Given the description of an element on the screen output the (x, y) to click on. 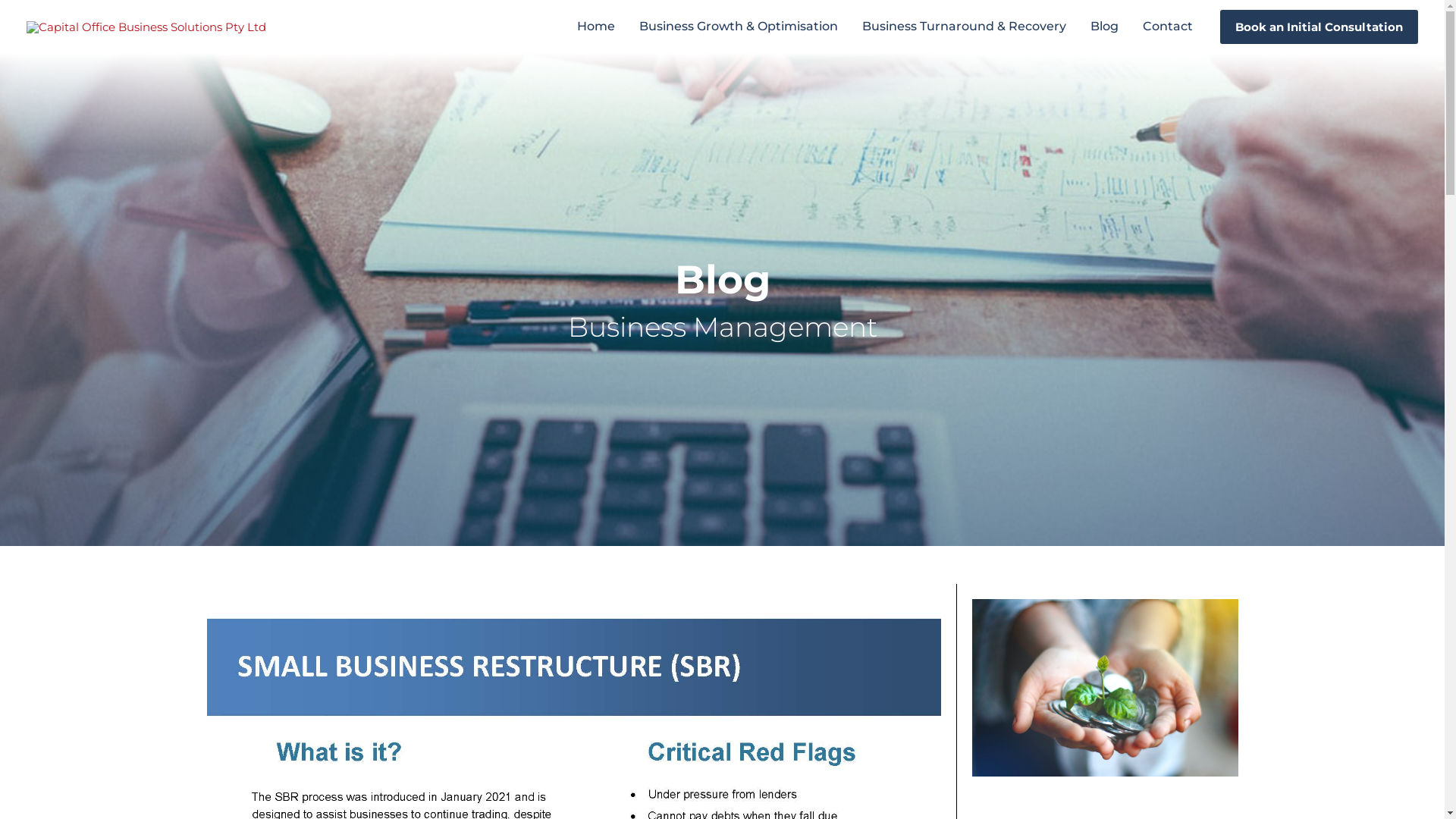
Book an Initial Consultation Element type: text (1319, 26)
Contact Element type: text (1167, 26)
Business Growth & Optimisation Element type: text (738, 26)
Business Turnaround & Recovery Element type: text (964, 26)
Home Element type: text (595, 26)
Blog Element type: text (1104, 26)
